Given the description of an element on the screen output the (x, y) to click on. 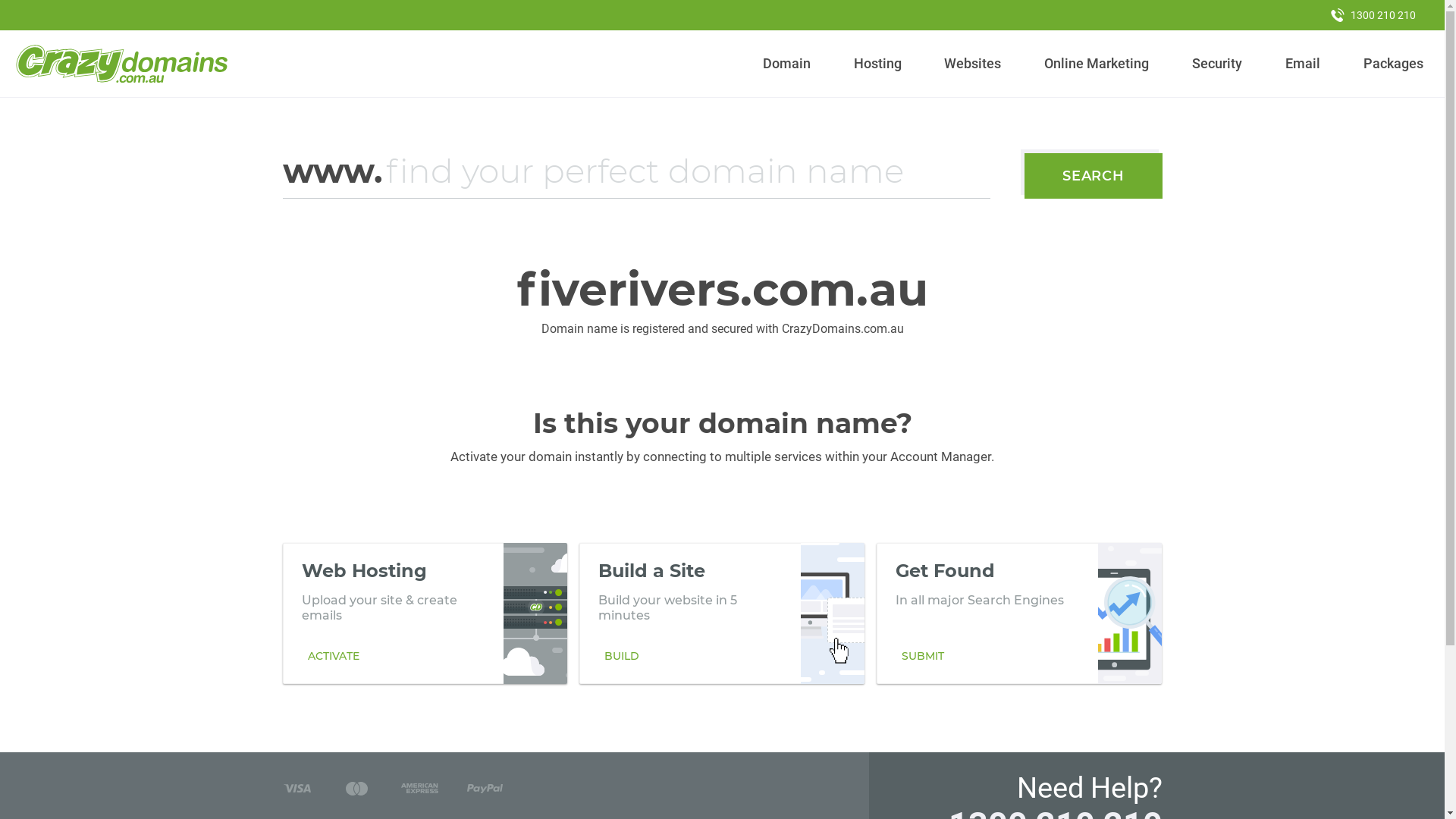
1300 210 210 Element type: text (1373, 15)
SEARCH Element type: text (1092, 175)
Build a Site
Build your website in 5 minutes
BUILD Element type: text (721, 613)
Websites Element type: text (972, 63)
Email Element type: text (1302, 63)
Hosting Element type: text (877, 63)
Online Marketing Element type: text (1096, 63)
Security Element type: text (1217, 63)
Get Found
In all major Search Engines
SUBMIT Element type: text (1018, 613)
Domain Element type: text (786, 63)
Web Hosting
Upload your site & create emails
ACTIVATE Element type: text (424, 613)
Packages Element type: text (1392, 63)
